Given the description of an element on the screen output the (x, y) to click on. 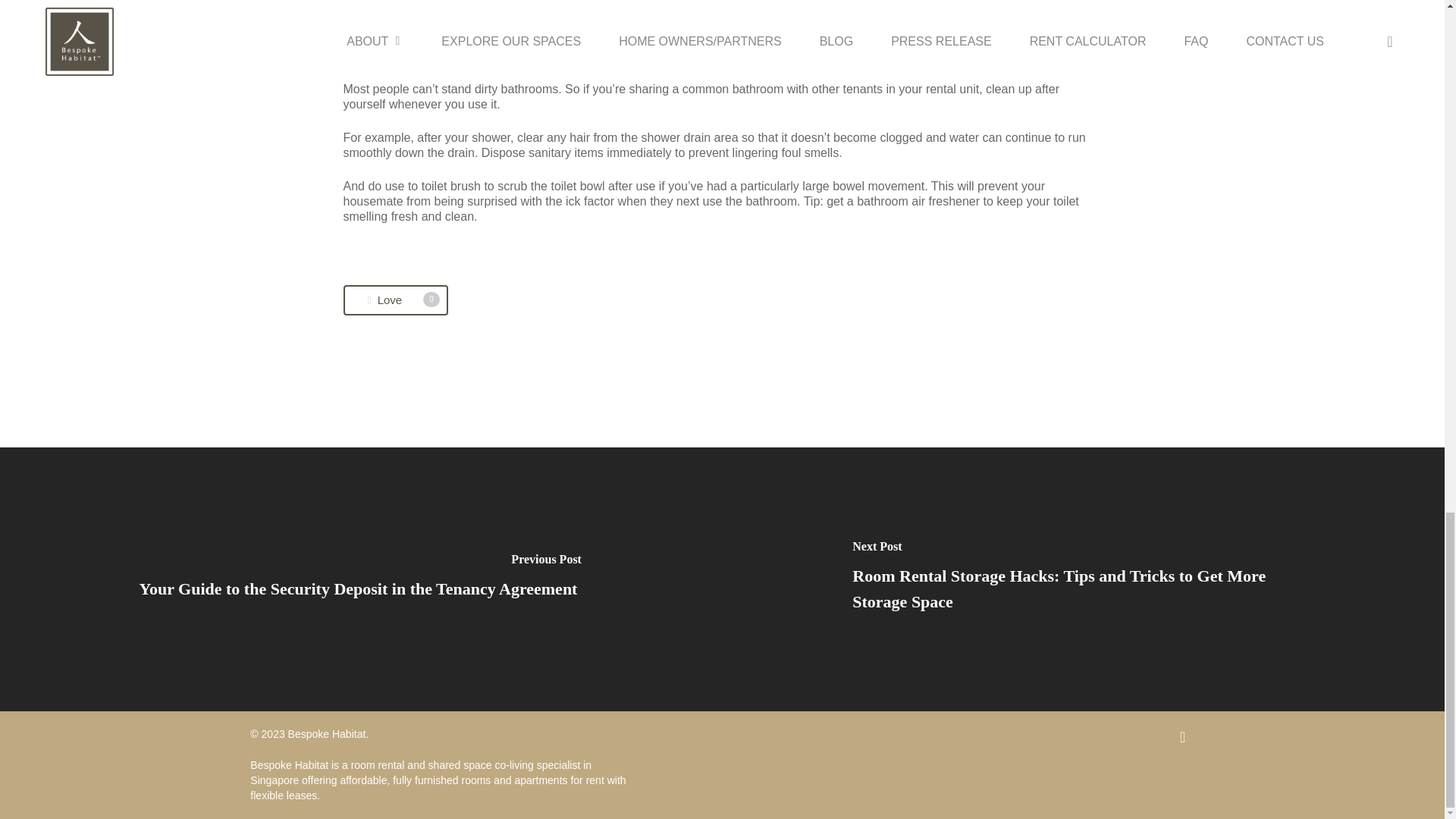
Love this (394, 300)
